Given the description of an element on the screen output the (x, y) to click on. 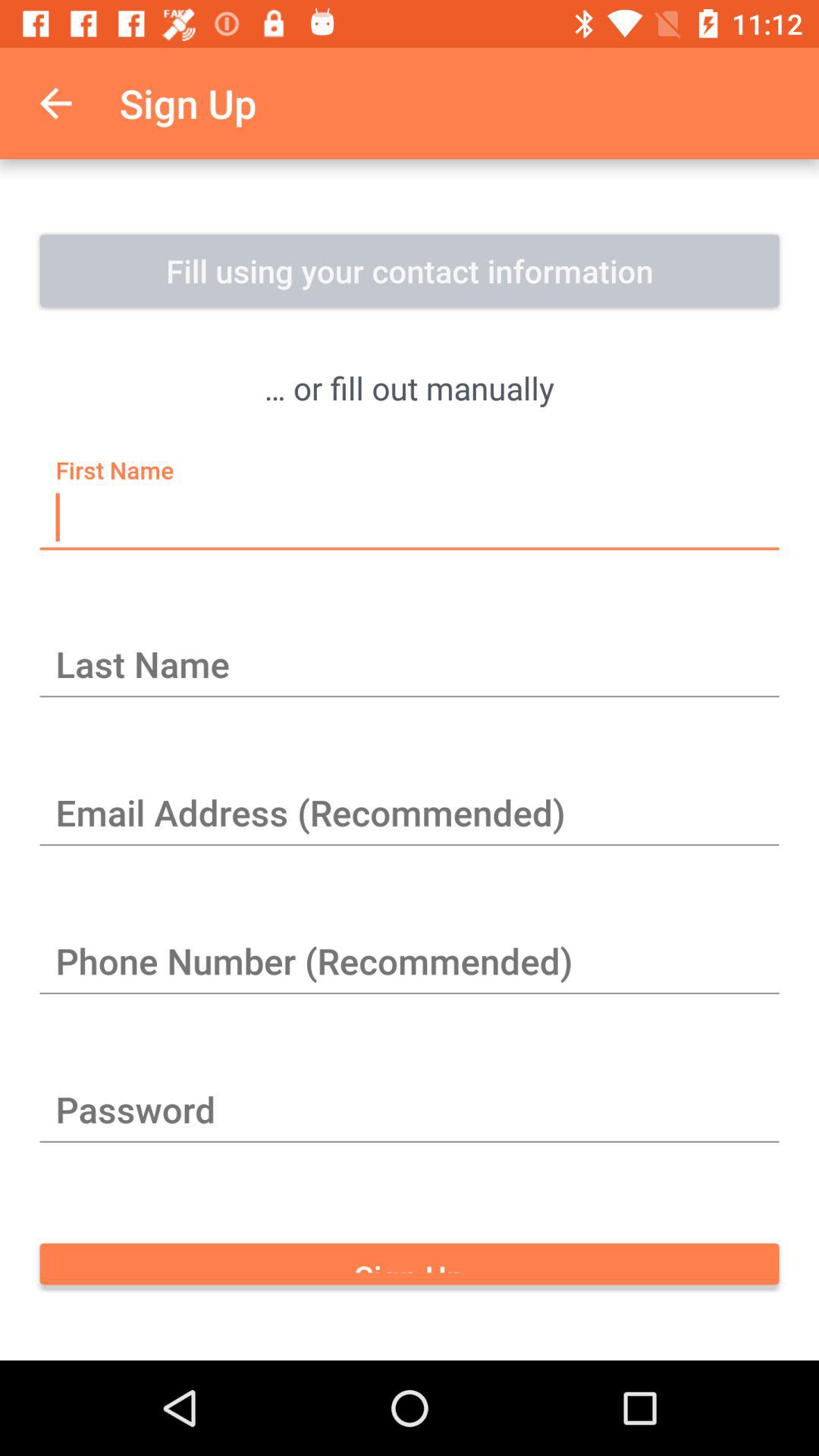
tap the app next to sign up item (55, 103)
